Given the description of an element on the screen output the (x, y) to click on. 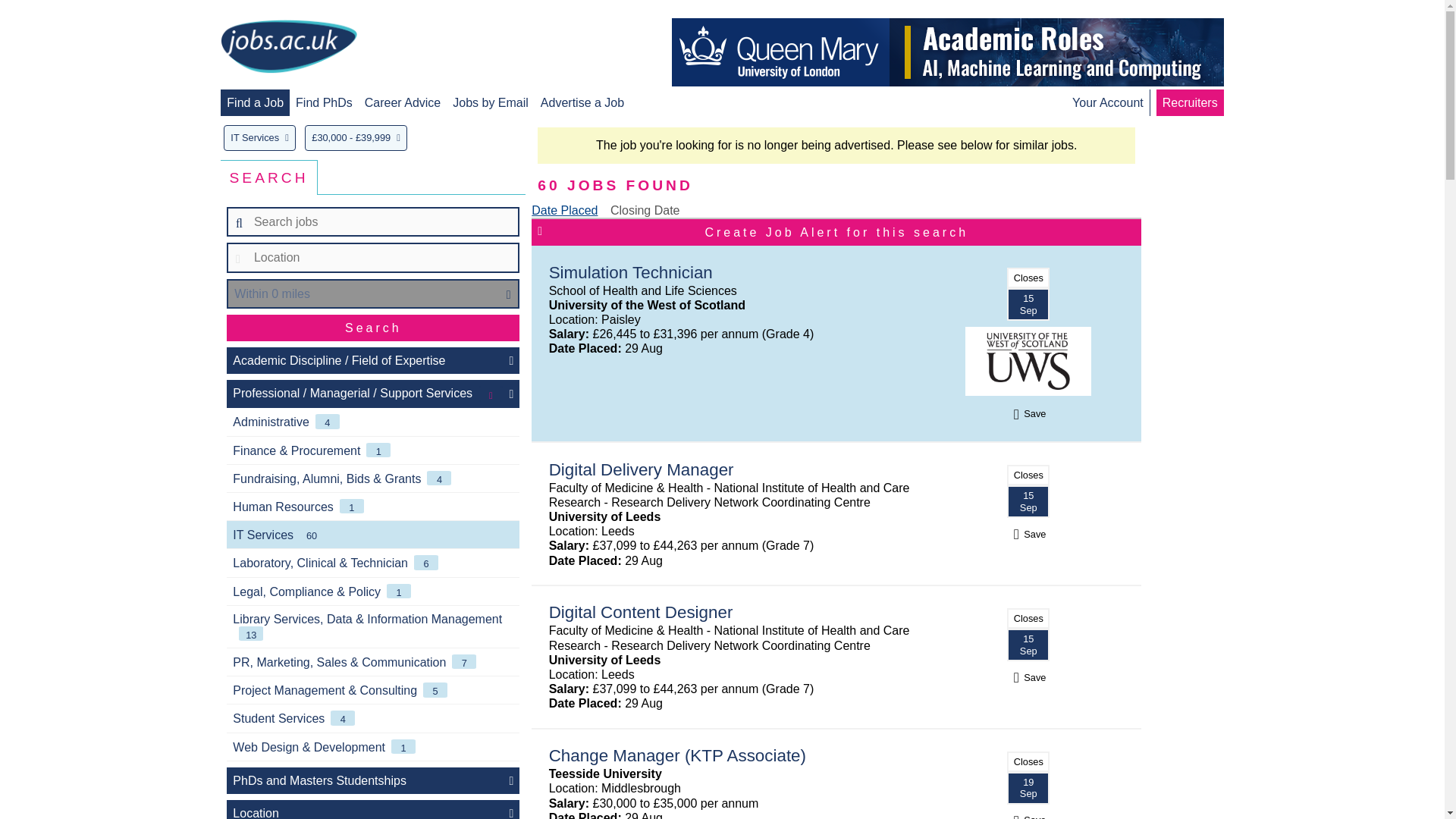
Closing Date (644, 210)
Advertise a Job (582, 102)
Career Advice (403, 102)
Save job (1027, 817)
Create Job Alert for this search (836, 232)
Recruiters (1189, 102)
Faculty of Science and Engineering.  (947, 52)
Find PhDs (323, 102)
Save job (1027, 413)
Create Job Alert for this search (836, 232)
